Given the description of an element on the screen output the (x, y) to click on. 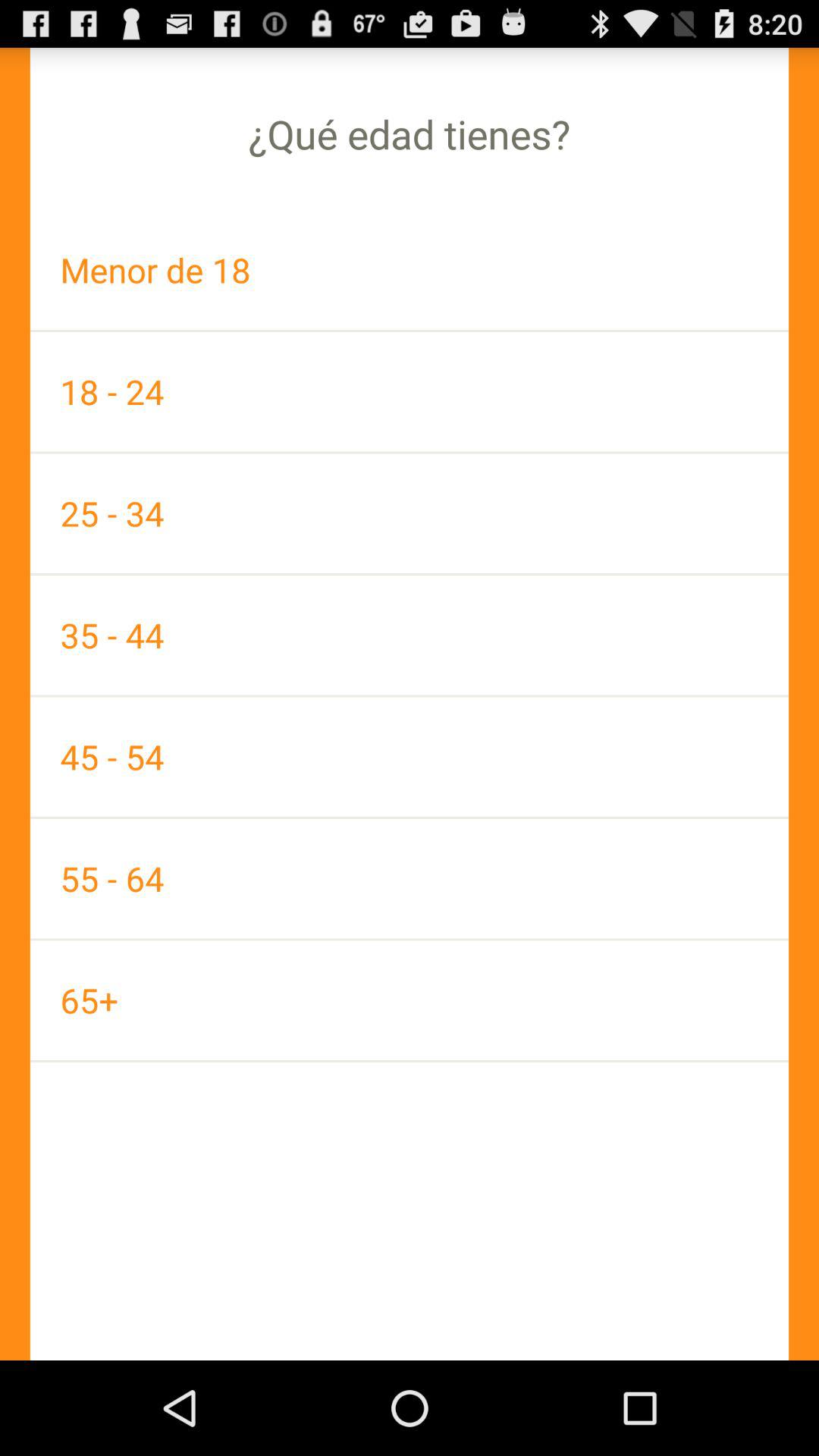
click icon below 35 - 44 (409, 756)
